Given the description of an element on the screen output the (x, y) to click on. 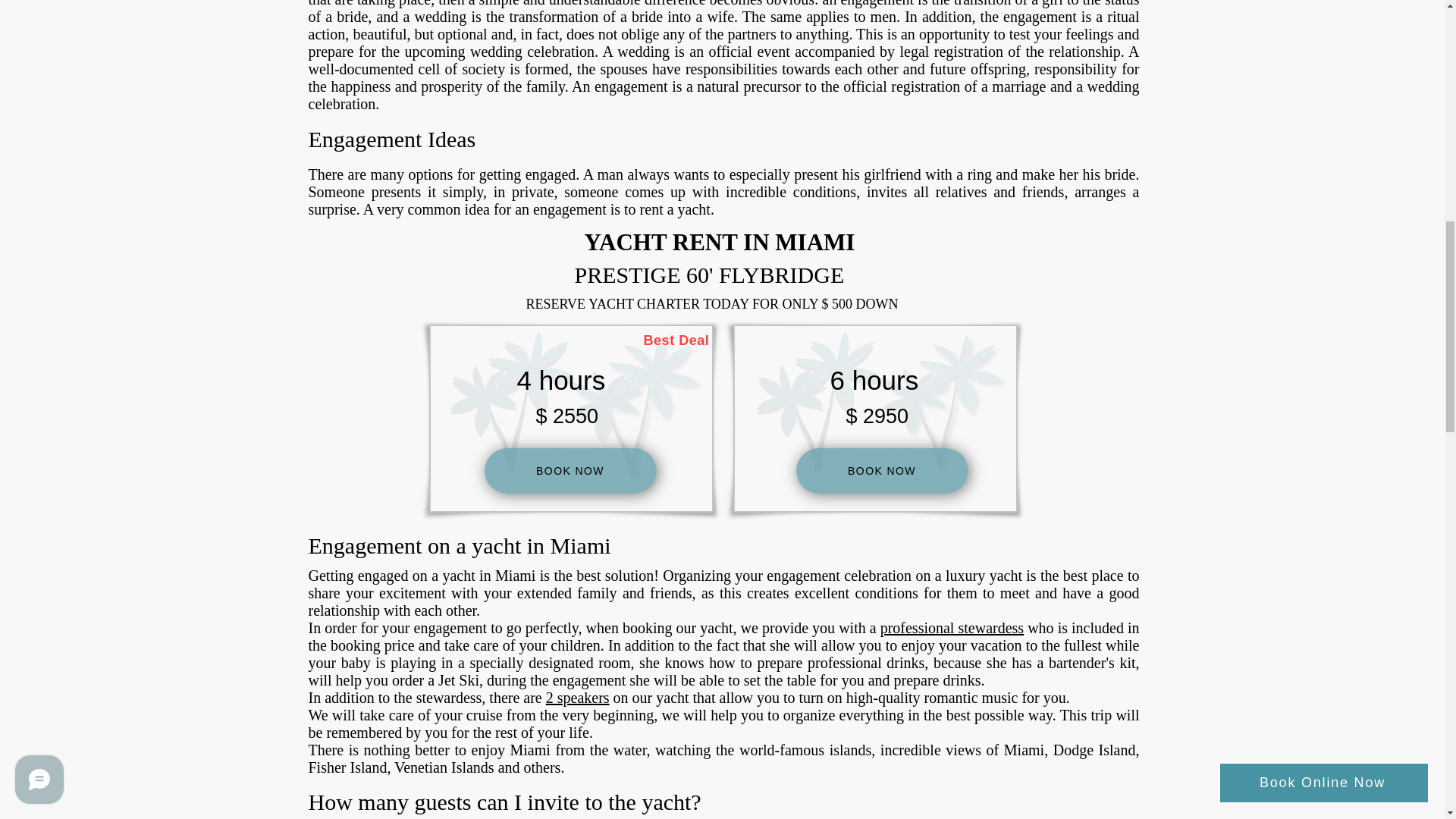
professional stewardess (951, 627)
FareHarbor (1342, 64)
BOOK NOW (569, 470)
2 speakers (578, 697)
BOOK NOW (882, 470)
